Given the description of an element on the screen output the (x, y) to click on. 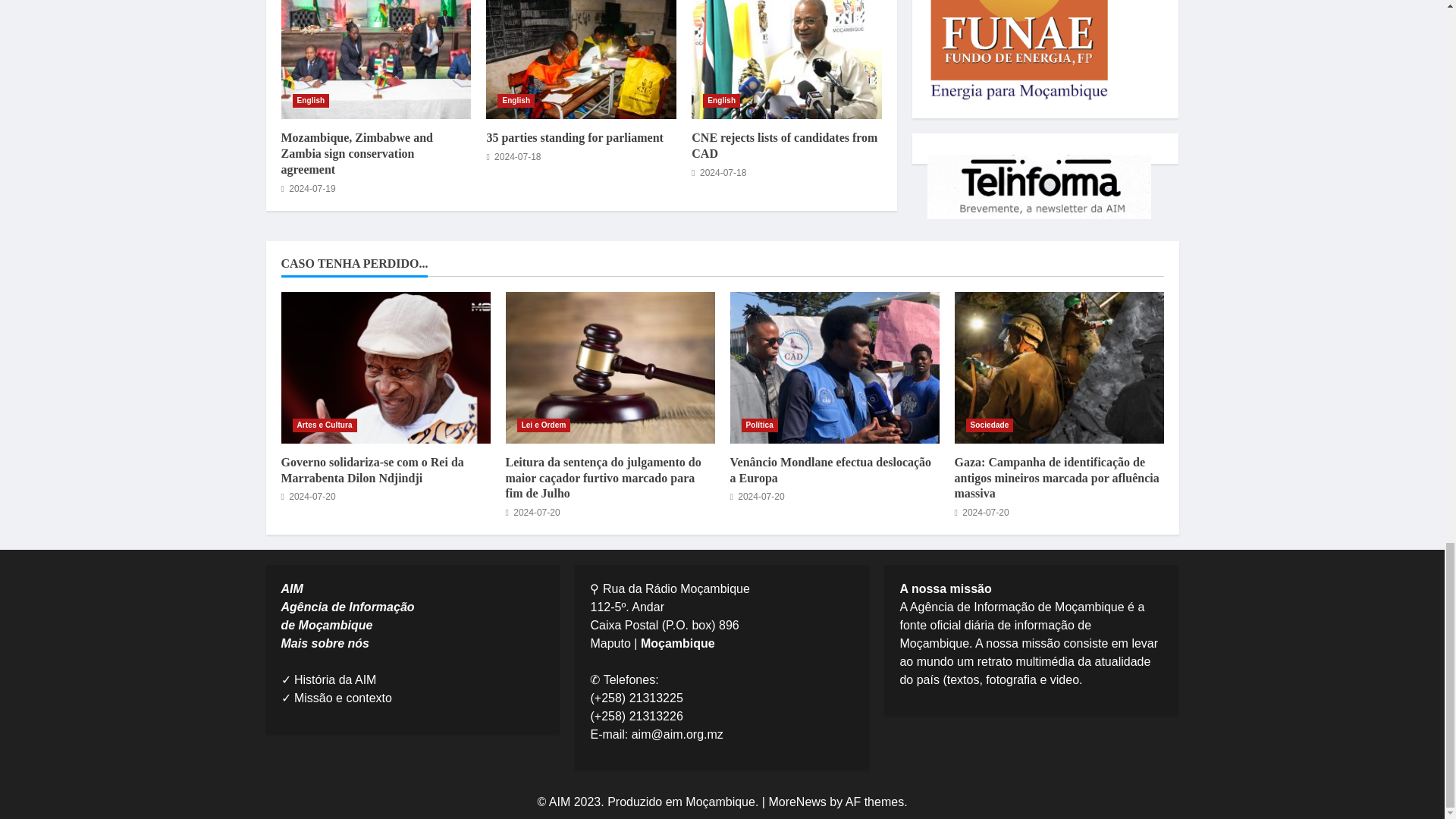
Mozambique, Zimbabwe and Zambia sign conservation agreement (375, 59)
Artes e Cultura (324, 425)
35 parties standing for parliament (574, 137)
English (515, 100)
English (311, 100)
Governo solidariza-se com o Rei da Marrabenta Dilon Ndjindji (385, 367)
English (721, 100)
Mozambique, Zimbabwe and Zambia sign conservation agreement (356, 153)
35 parties standing for parliament (581, 59)
CNE rejects lists of candidates from CAD (786, 59)
CNE rejects lists of candidates from CAD (784, 145)
